Given the description of an element on the screen output the (x, y) to click on. 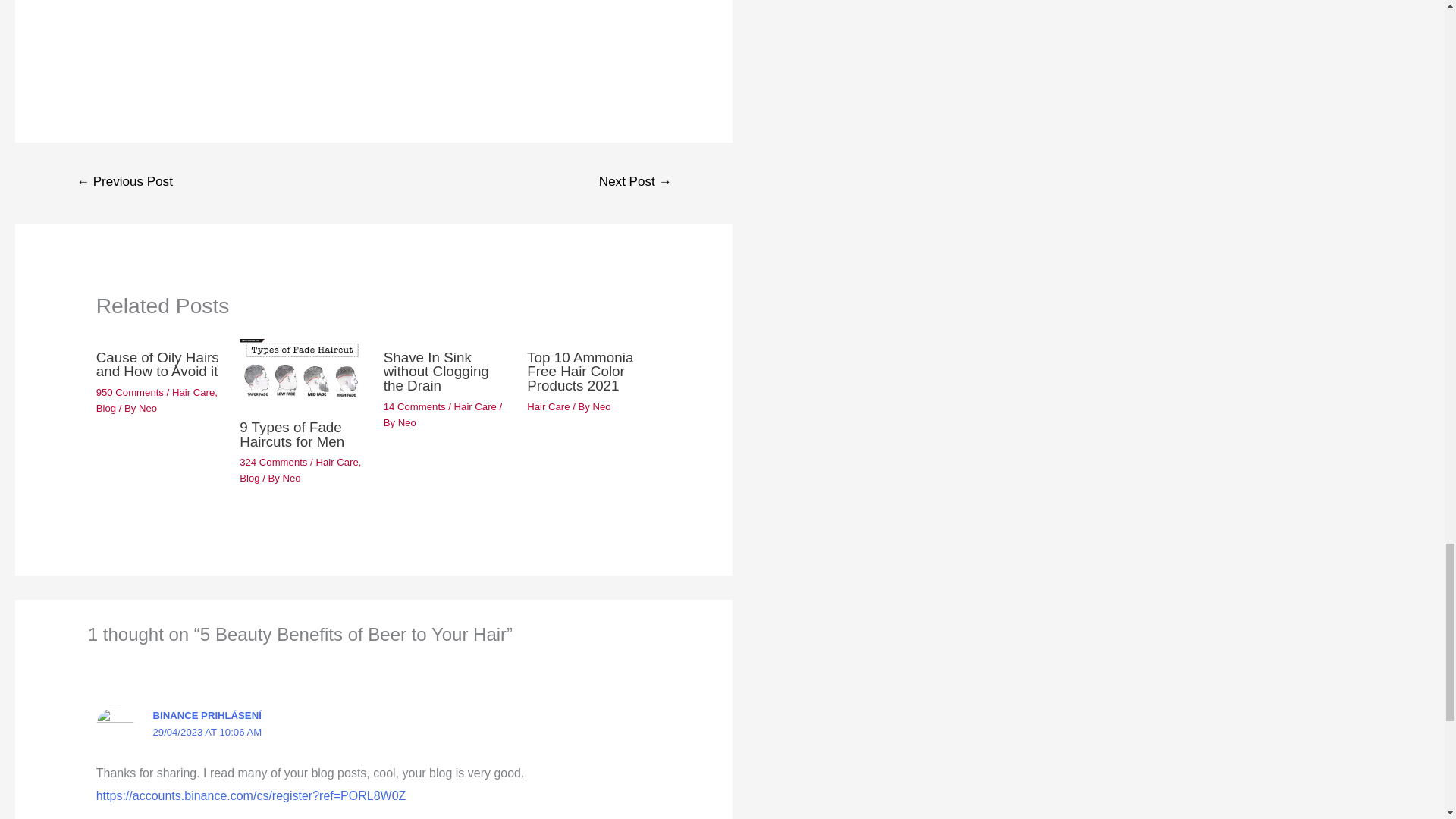
View all posts by Neo (601, 406)
View all posts by Neo (147, 408)
View all posts by Neo (291, 478)
View all posts by Neo (406, 422)
